Given the description of an element on the screen output the (x, y) to click on. 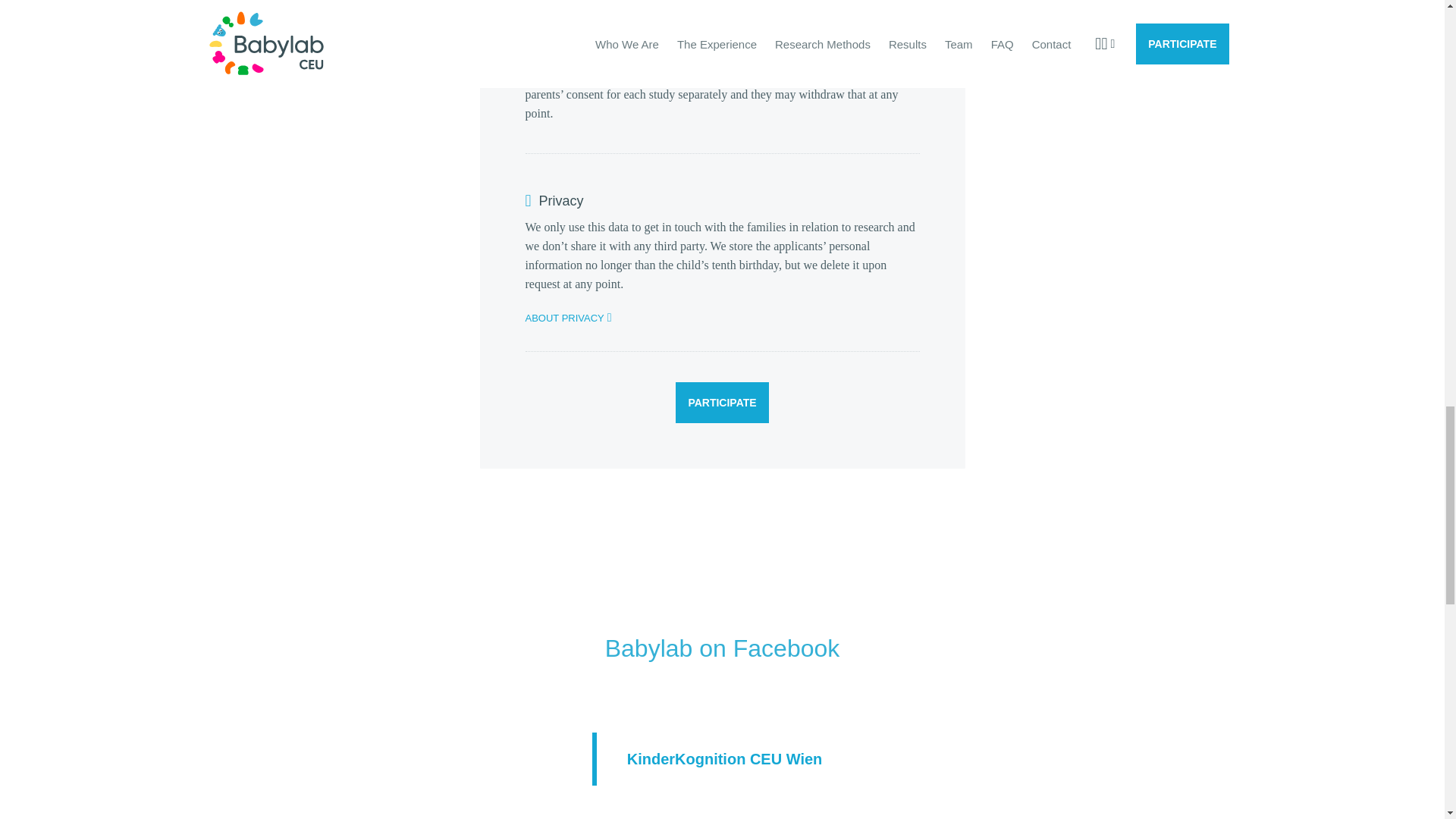
KinderKognition CEU Wien (724, 759)
PARTICIPATE (721, 402)
